Given the description of an element on the screen output the (x, y) to click on. 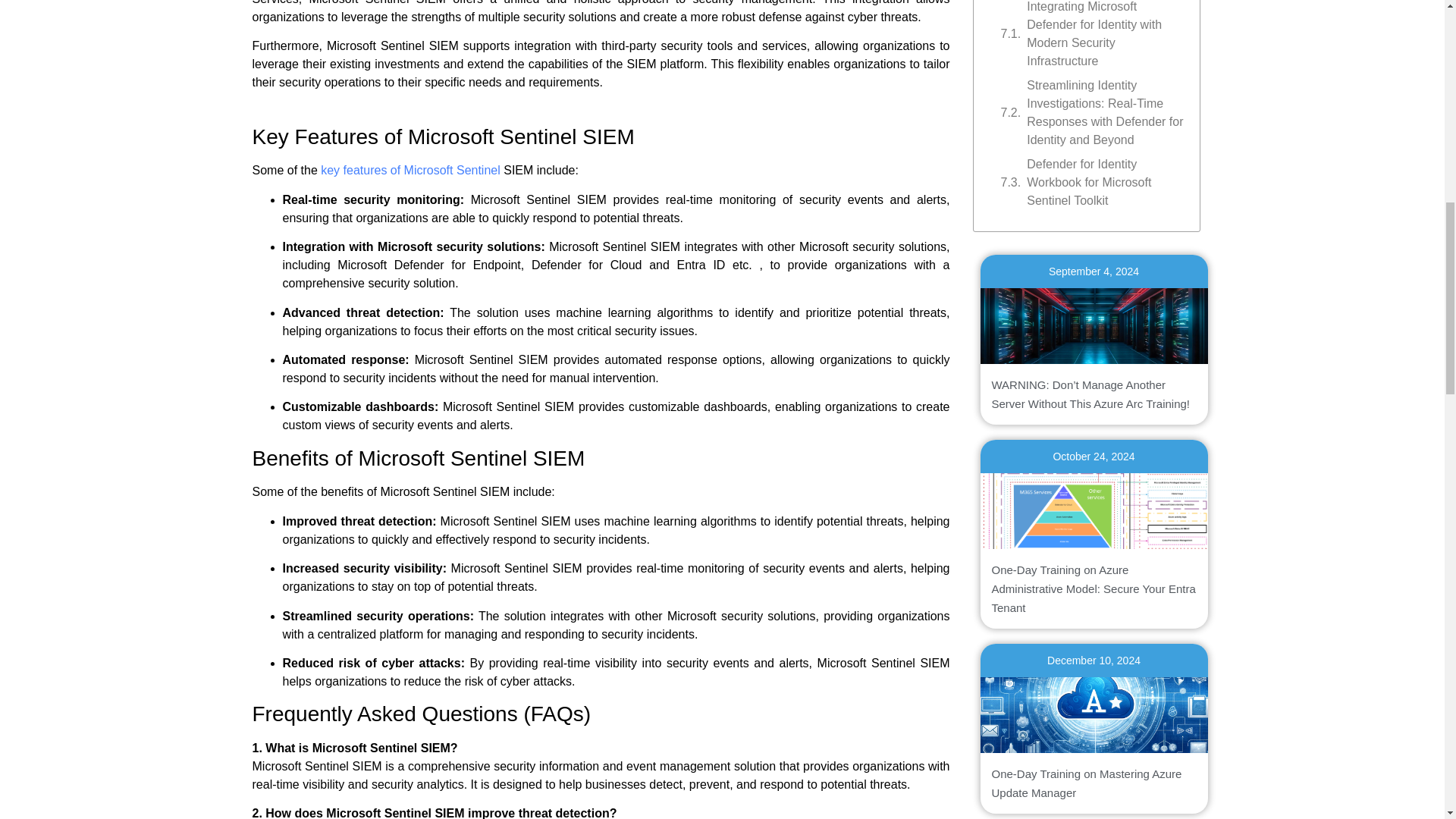
key features of Microsoft Sentinel (410, 169)
